Given the description of an element on the screen output the (x, y) to click on. 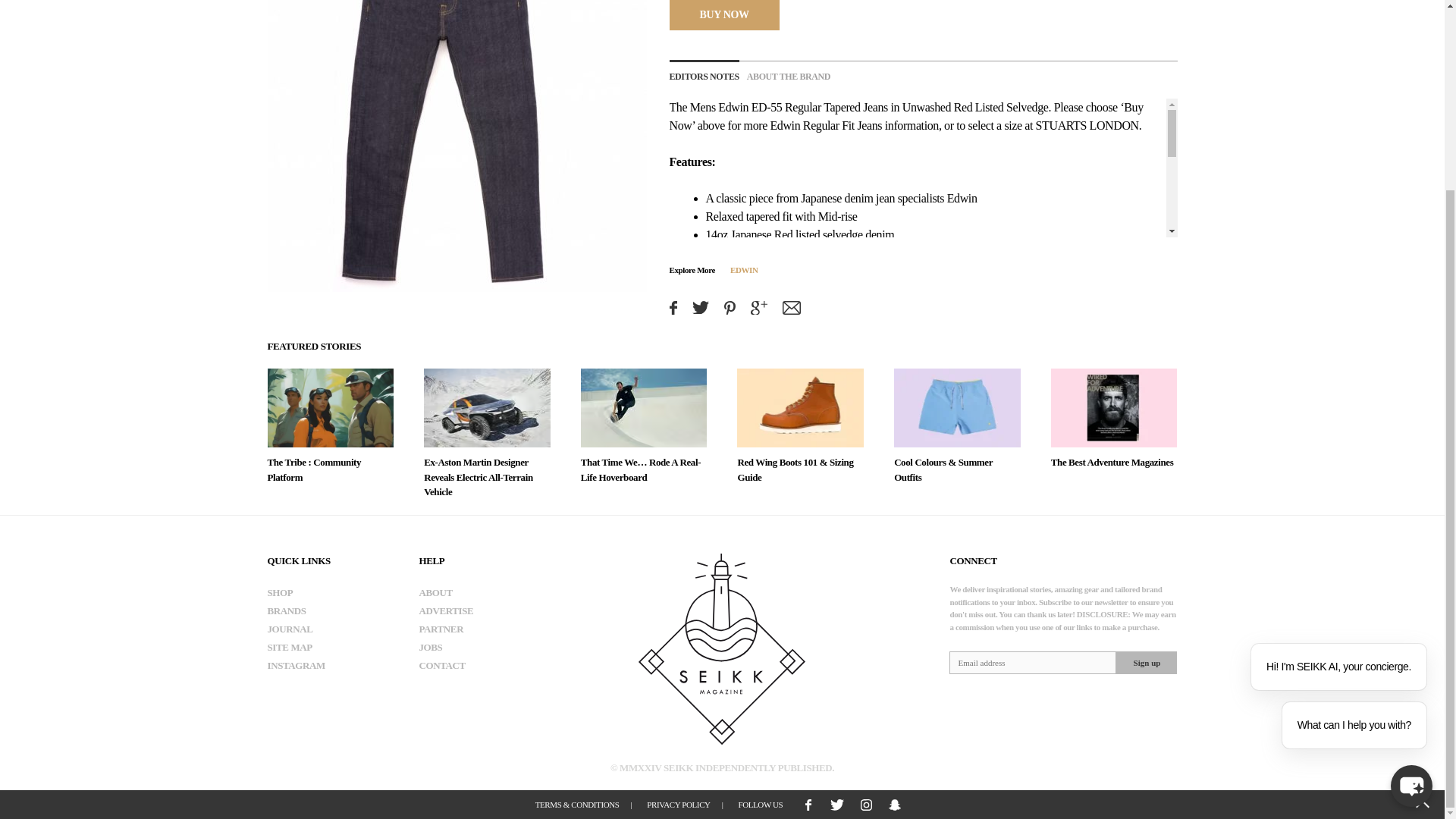
BUY NOW (723, 14)
Edwin (732, 106)
EDWIN (744, 268)
